Given the description of an element on the screen output the (x, y) to click on. 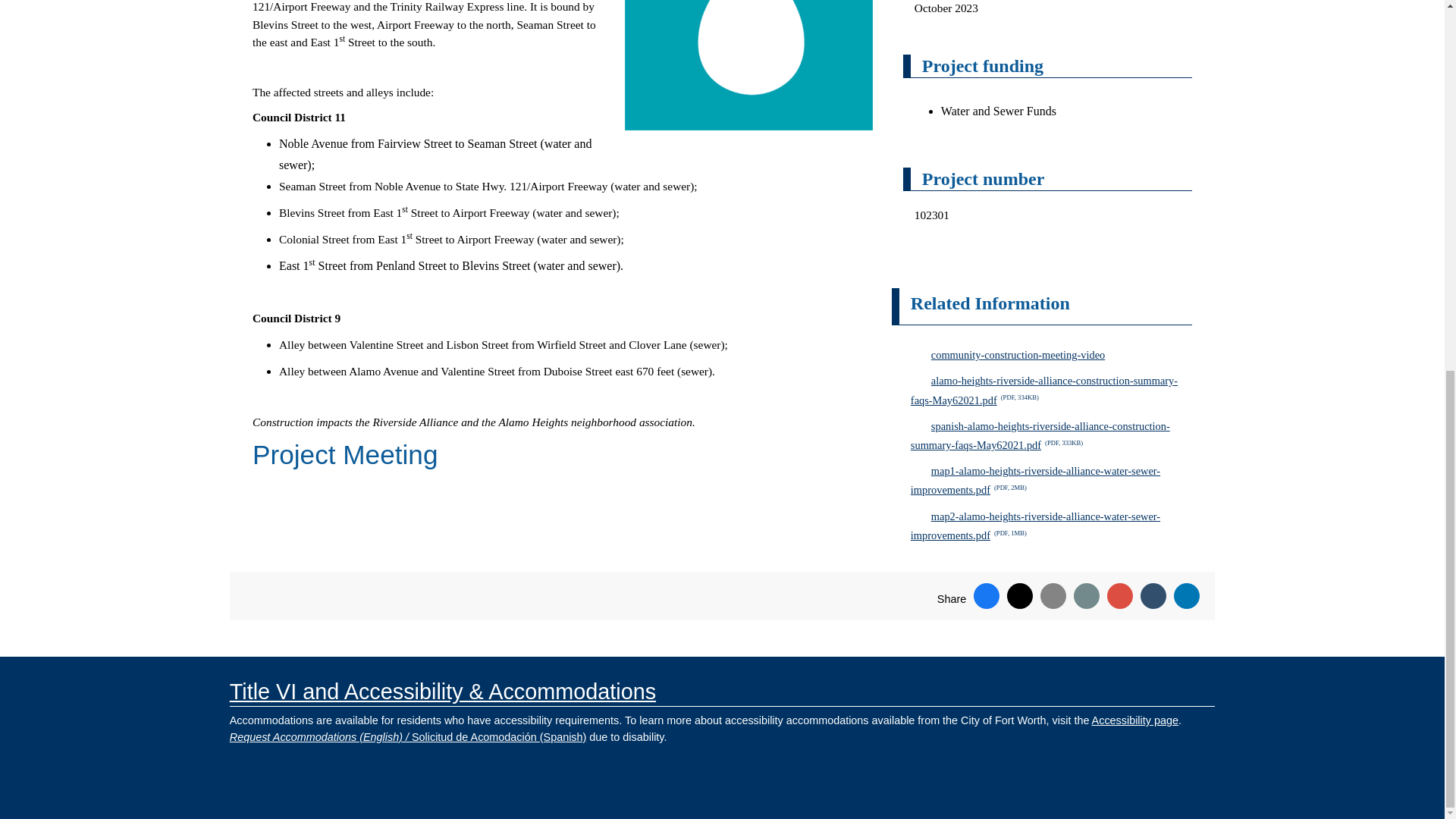
community-construction-meeting-video (1051, 354)
